Given the description of an element on the screen output the (x, y) to click on. 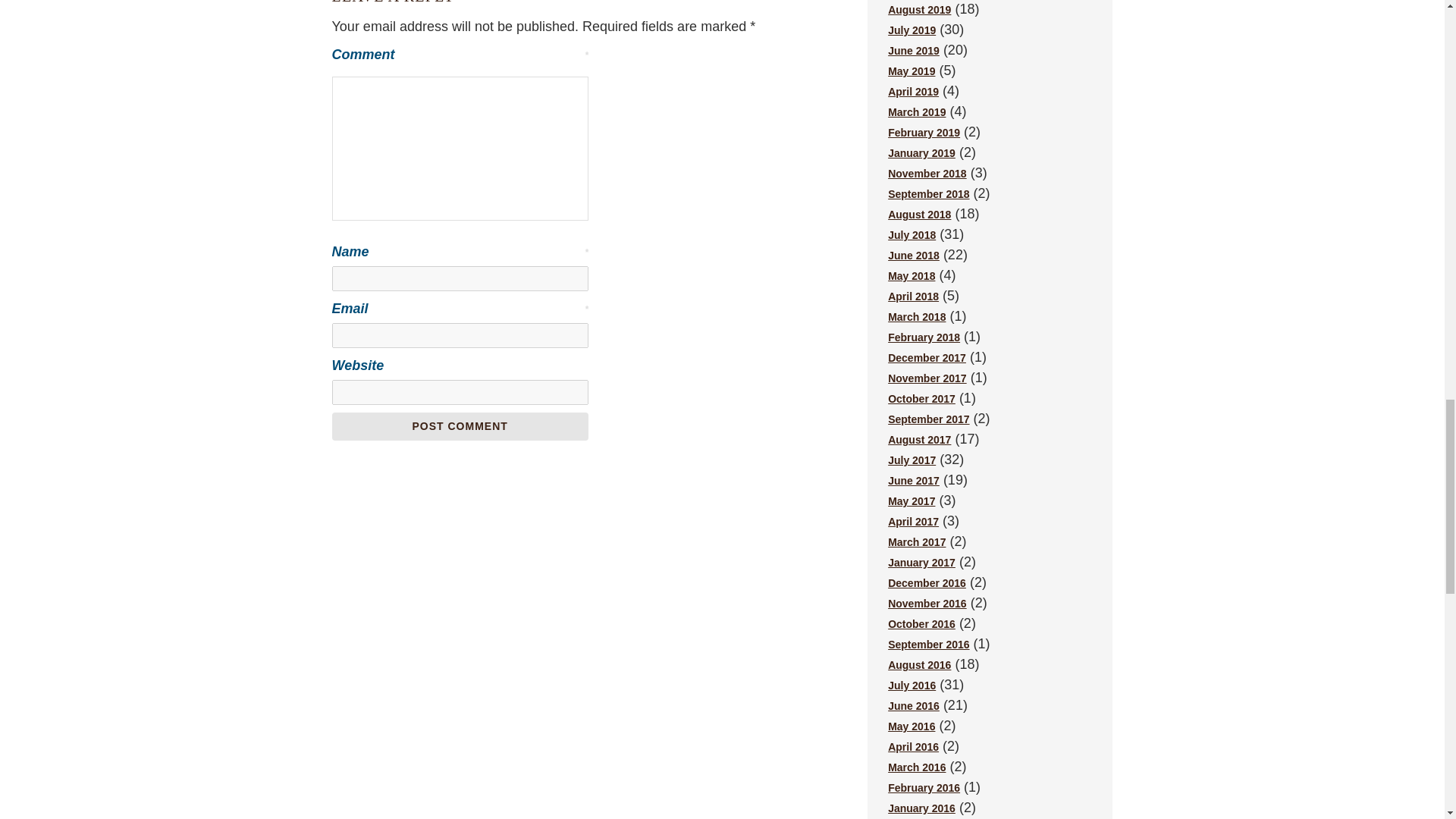
Post Comment (459, 426)
